Given the description of an element on the screen output the (x, y) to click on. 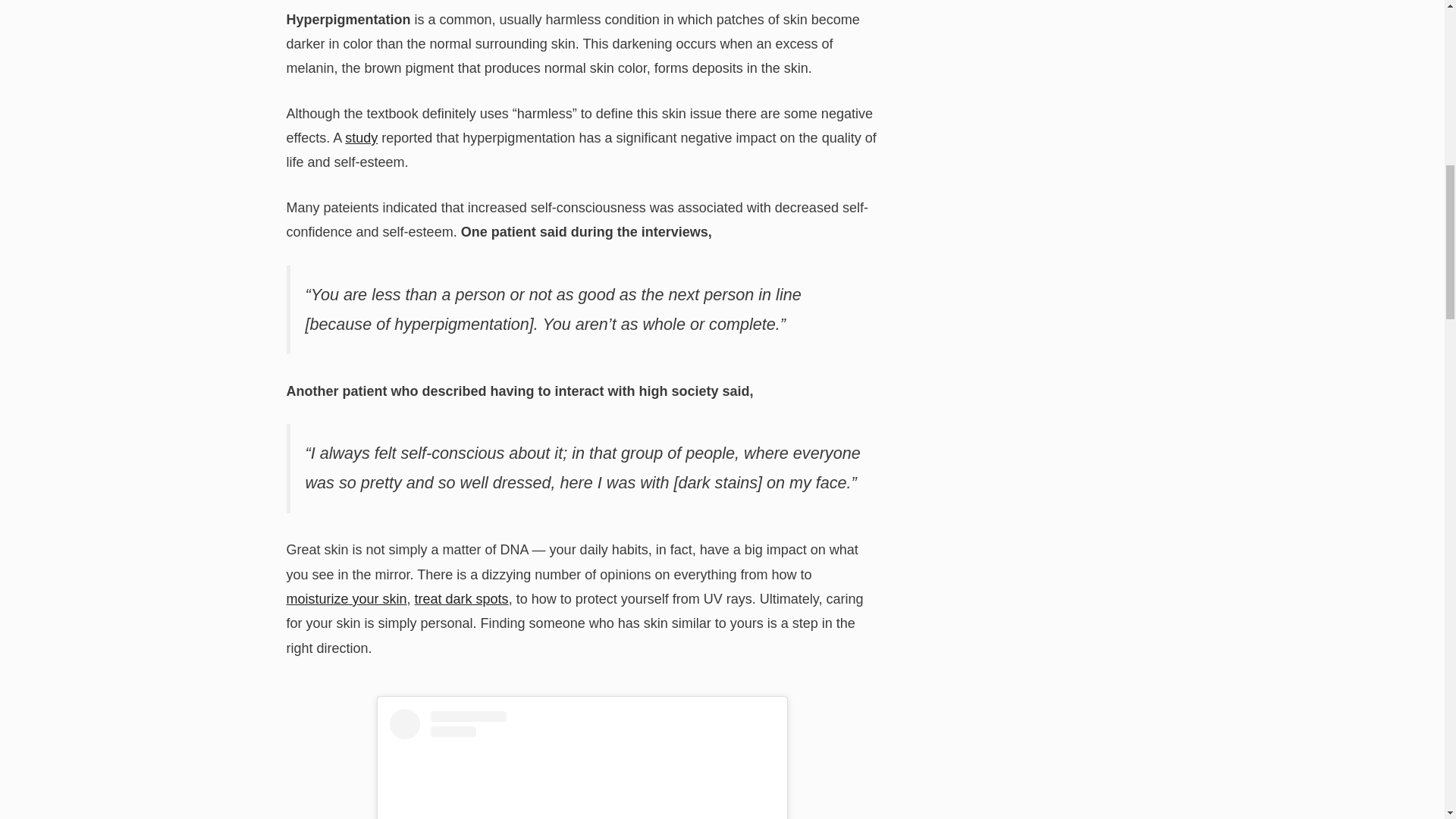
study (361, 137)
View this post on Instagram (582, 764)
treat dark spots (461, 598)
moisturize your skin (346, 598)
